Given the description of an element on the screen output the (x, y) to click on. 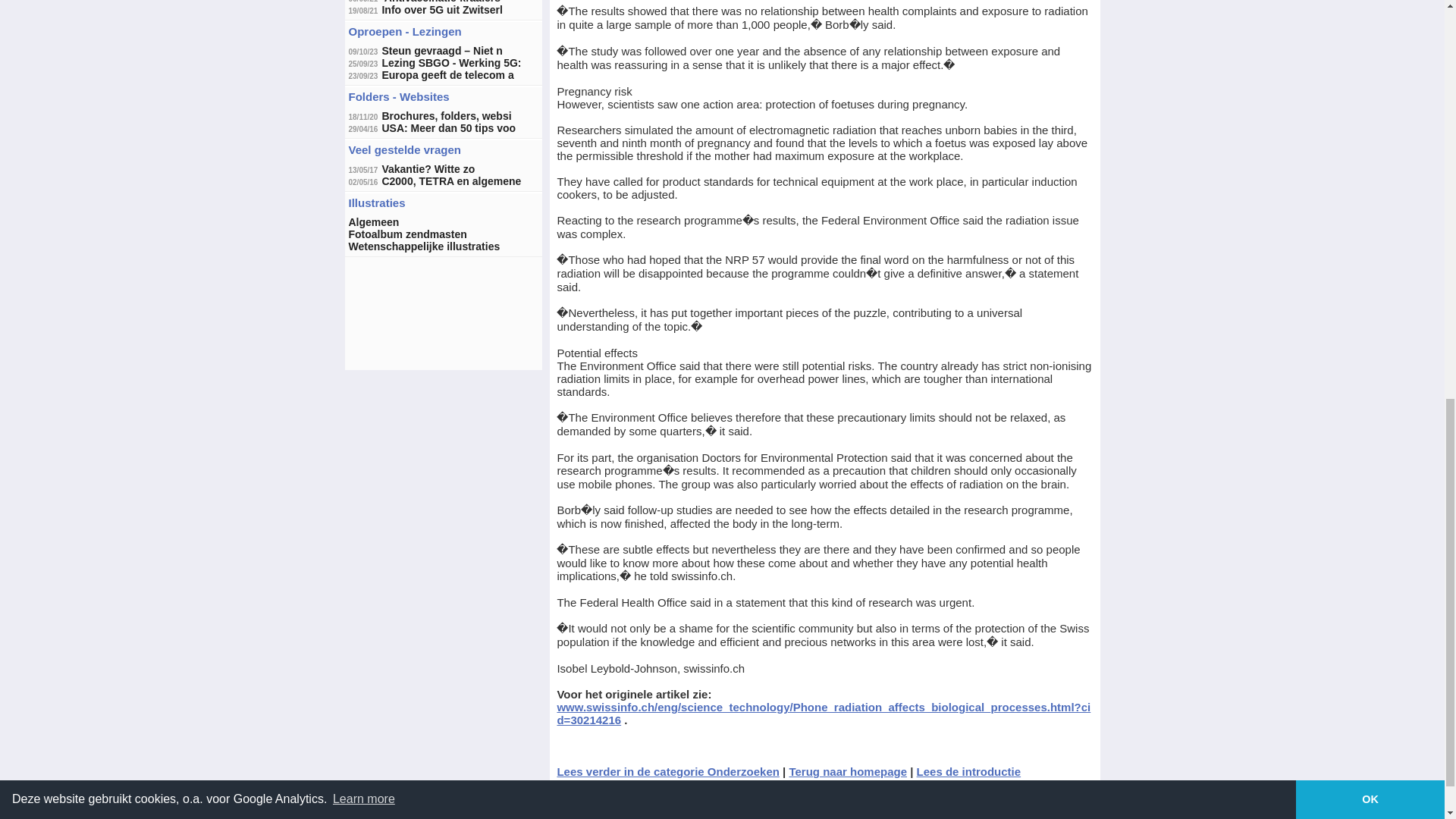
Terug naar homepage (848, 771)
Lees verder in de categorie Onderzoeken (667, 771)
Lees de introductie (969, 771)
